Given the description of an element on the screen output the (x, y) to click on. 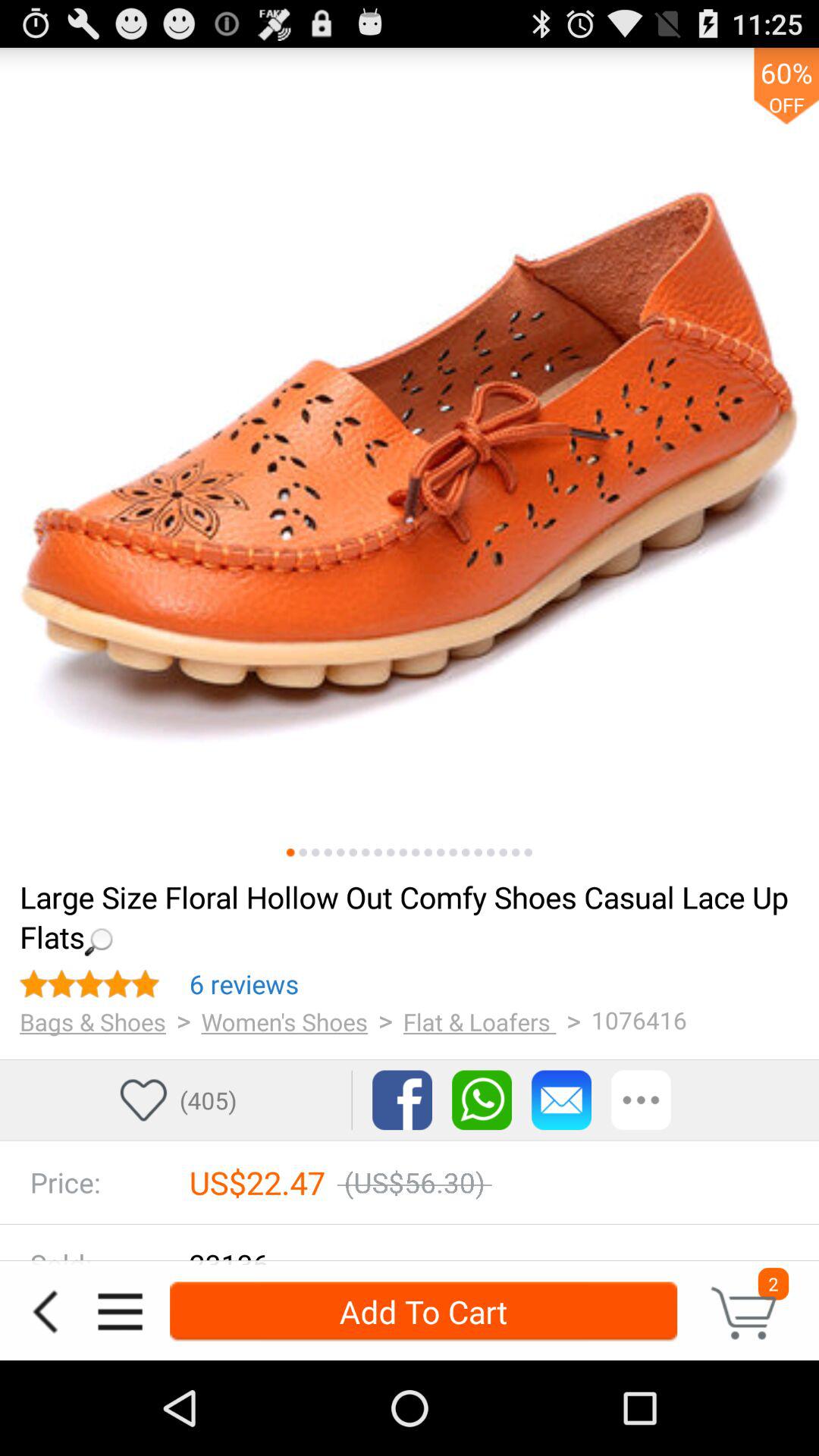
page selector (440, 852)
